Given the description of an element on the screen output the (x, y) to click on. 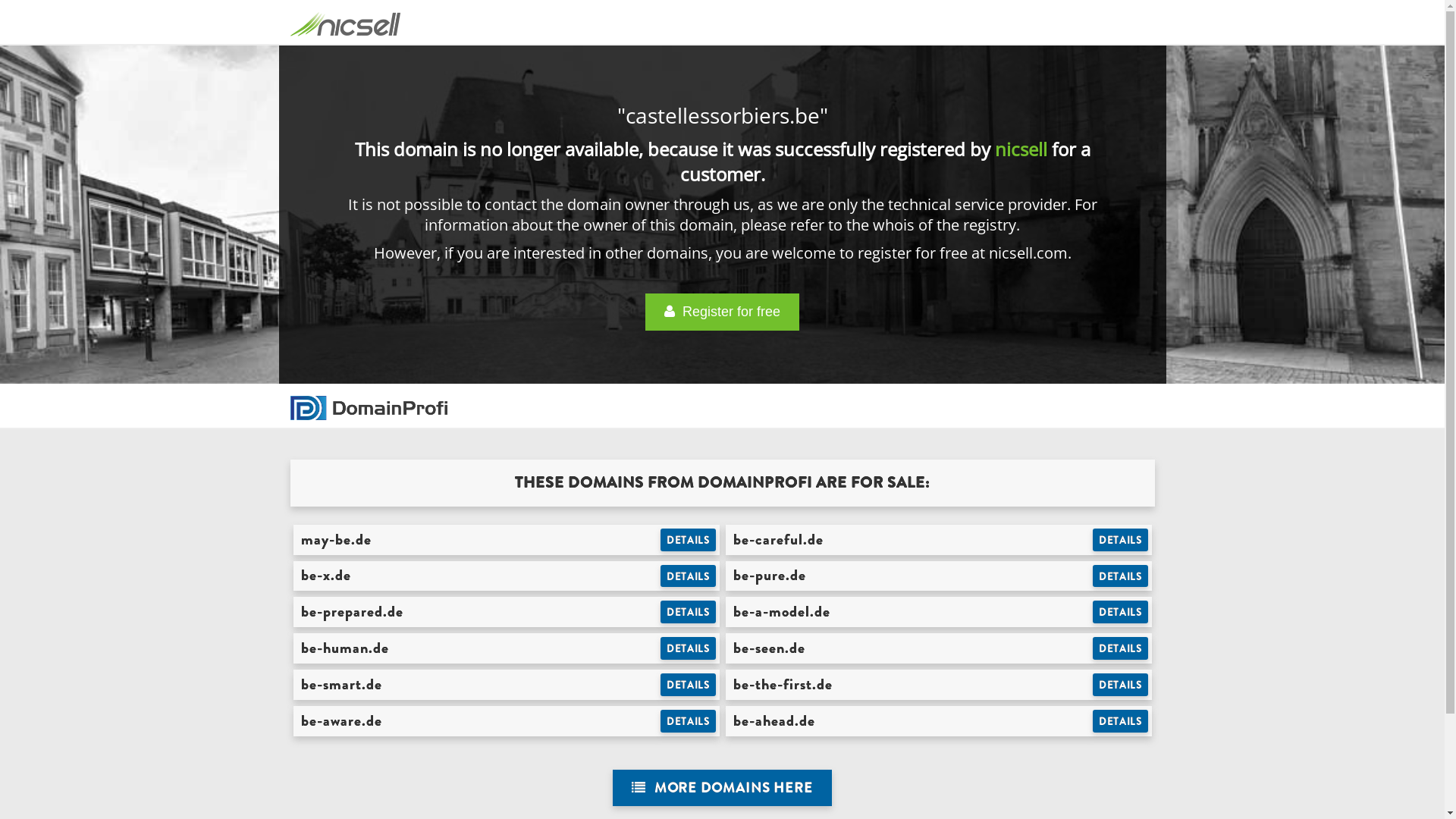
DETAILS Element type: text (1120, 720)
DETAILS Element type: text (687, 575)
DETAILS Element type: text (687, 648)
DETAILS Element type: text (687, 684)
DETAILS Element type: text (1120, 539)
  Register for free Element type: text (722, 311)
DETAILS Element type: text (1120, 648)
  MORE DOMAINS HERE Element type: text (721, 787)
DETAILS Element type: text (1120, 684)
DETAILS Element type: text (687, 539)
DETAILS Element type: text (1120, 611)
DETAILS Element type: text (687, 611)
DETAILS Element type: text (687, 720)
DETAILS Element type: text (1120, 575)
nicsell Element type: text (1020, 148)
